Given the description of an element on the screen output the (x, y) to click on. 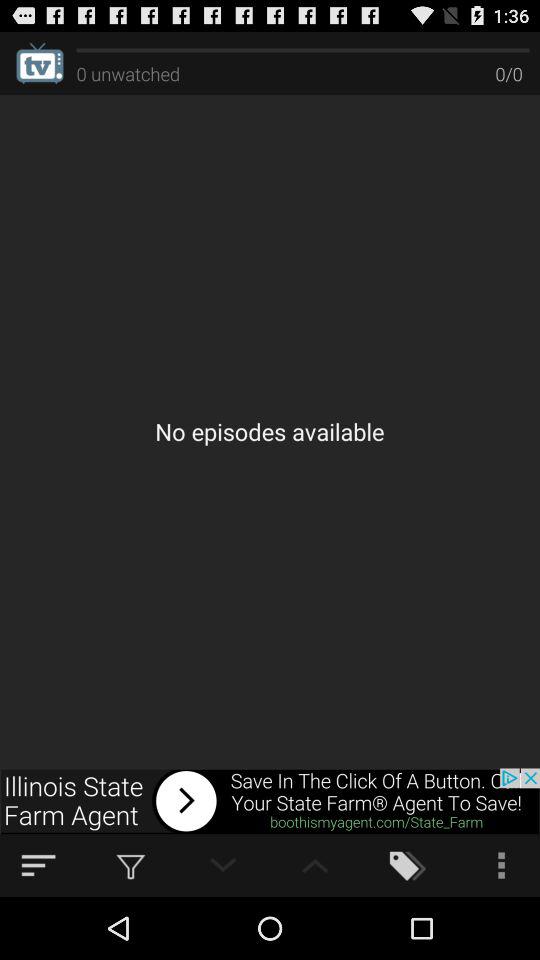
open add for state farm (270, 801)
